Given the description of an element on the screen output the (x, y) to click on. 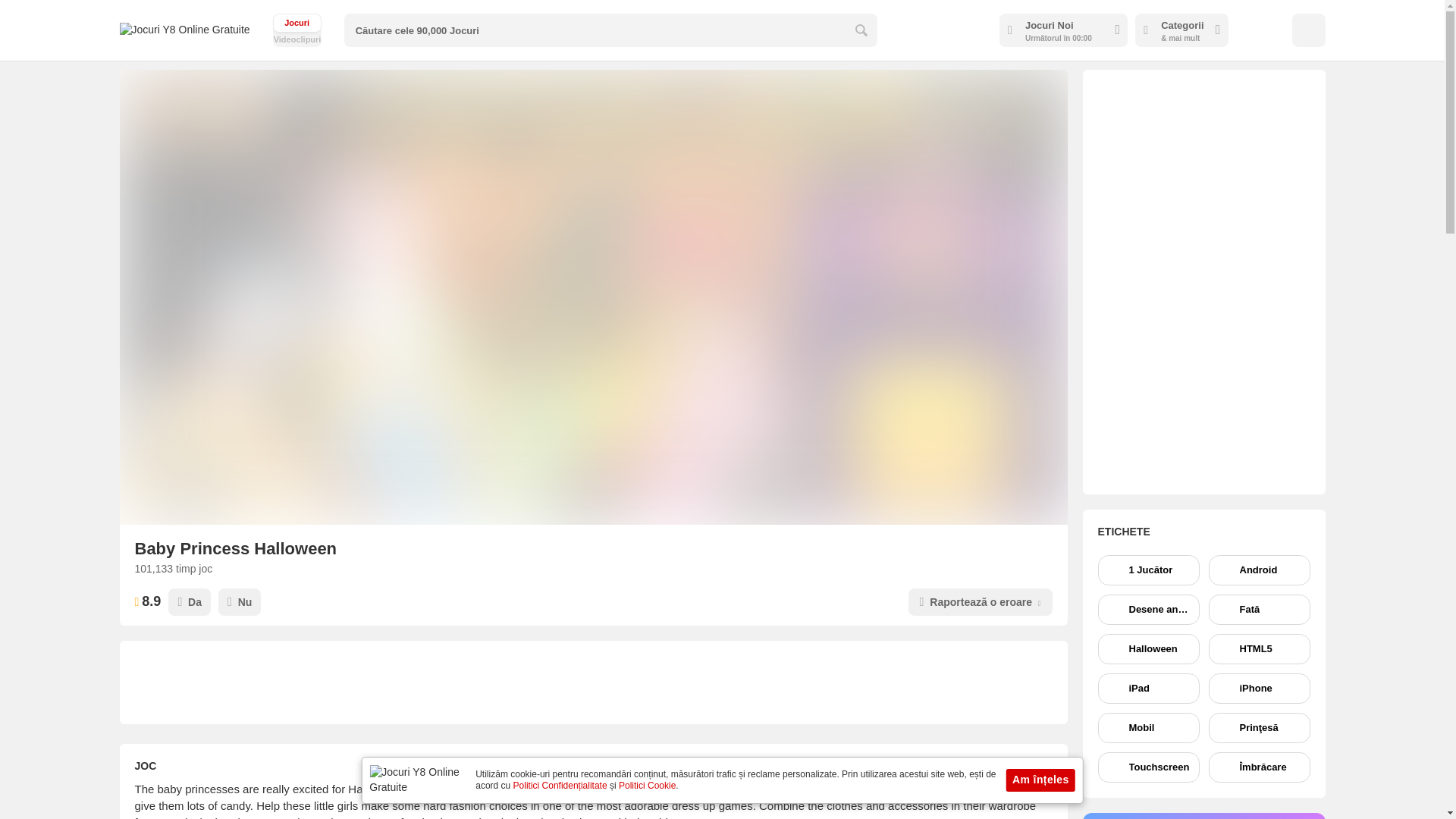
iPad (1148, 688)
Mobil (297, 29)
Videoclipuri (1148, 727)
iPhone (297, 29)
Halloween (1259, 688)
Android (1148, 648)
HTML5 (1259, 570)
Touchscreen (1259, 648)
Desene animate (1148, 767)
Politici Cookie (1148, 609)
